Given the description of an element on the screen output the (x, y) to click on. 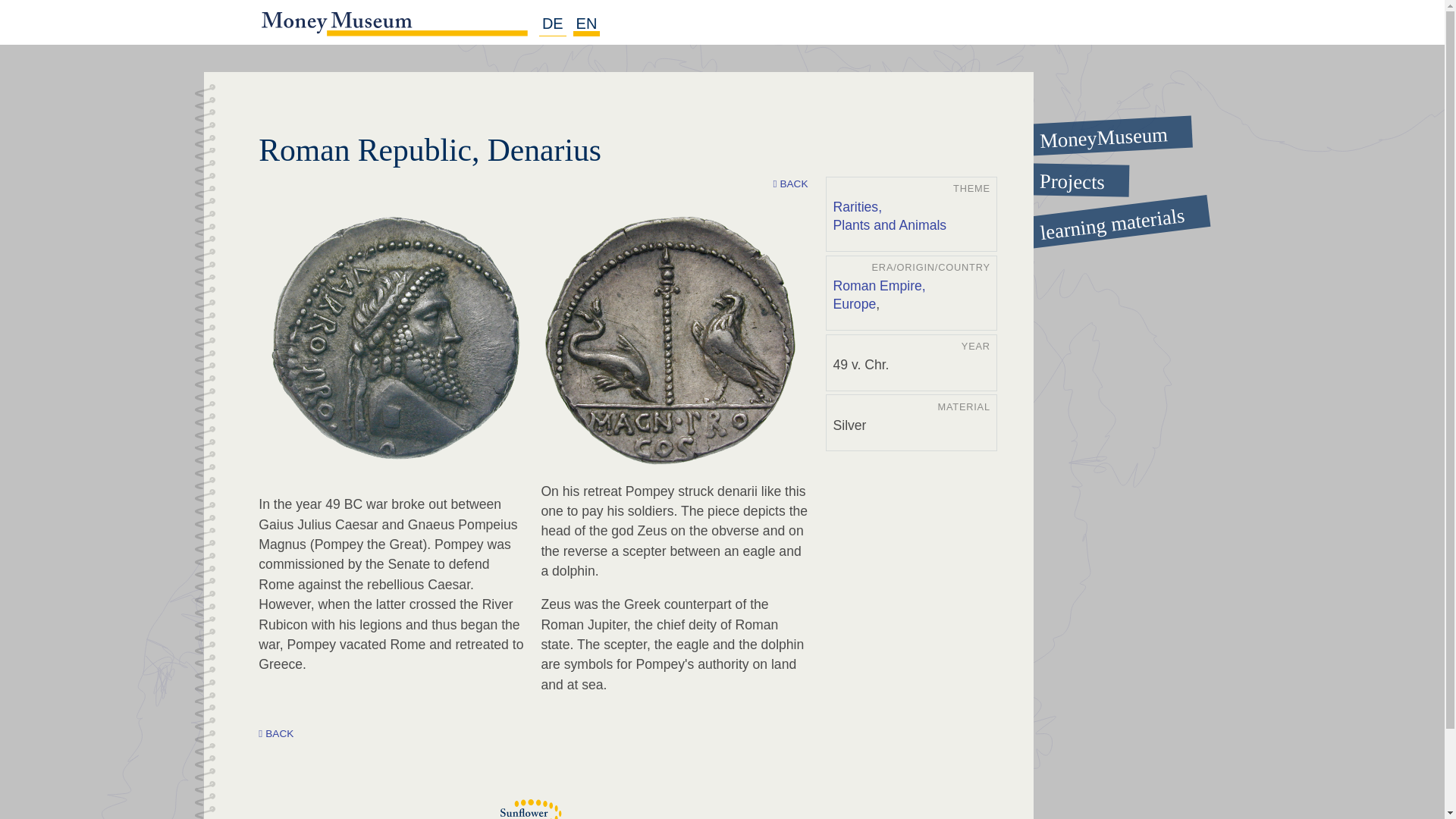
Europe (854, 304)
Projects (1097, 178)
BACK (276, 734)
DE (552, 24)
EN (586, 24)
Rarities (858, 208)
MoneyMuseum (1096, 130)
Roman Empire (880, 286)
BACK (790, 184)
Plants and Animals (889, 226)
learning materials (1096, 211)
